Given the description of an element on the screen output the (x, y) to click on. 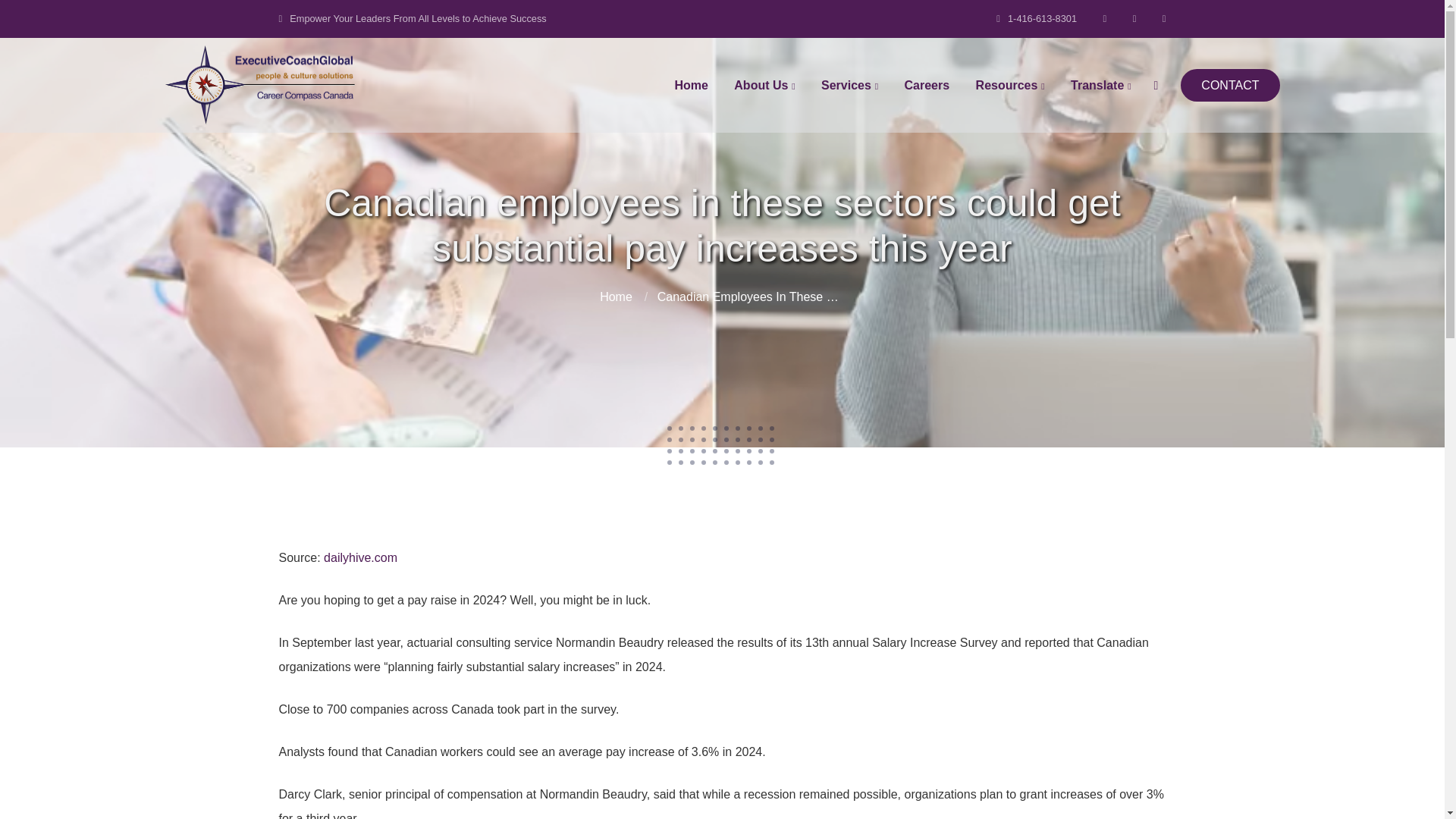
Careers (926, 84)
About Us (764, 84)
Translate (1100, 84)
Services (849, 84)
1-416-613-8301 (1036, 17)
Home (690, 84)
Resources (1010, 84)
Empower Your Leaders From All Levels to Achieve Success (411, 17)
